Given the description of an element on the screen output the (x, y) to click on. 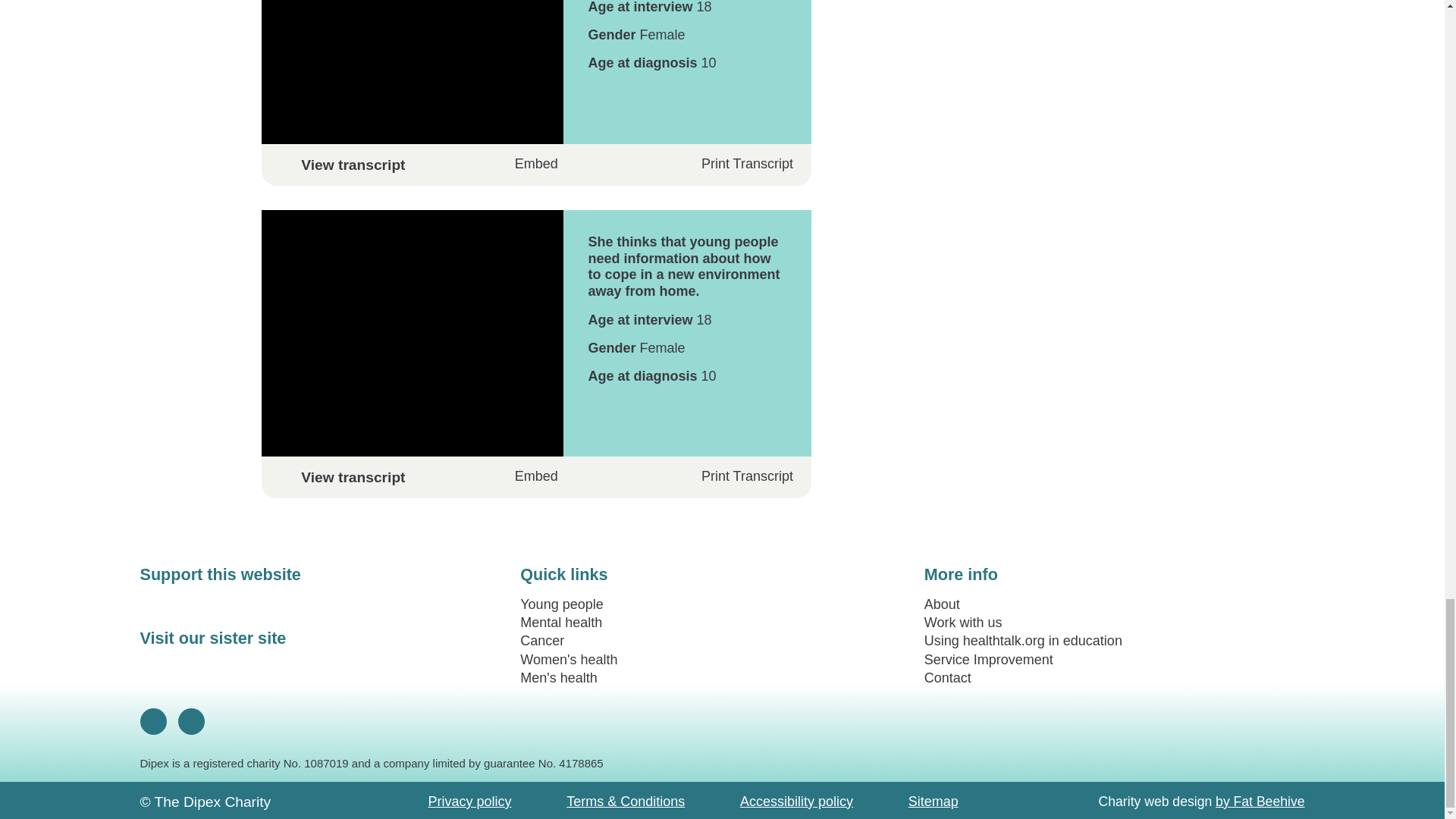
Twitter (191, 720)
Facebook (152, 720)
